Given the description of an element on the screen output the (x, y) to click on. 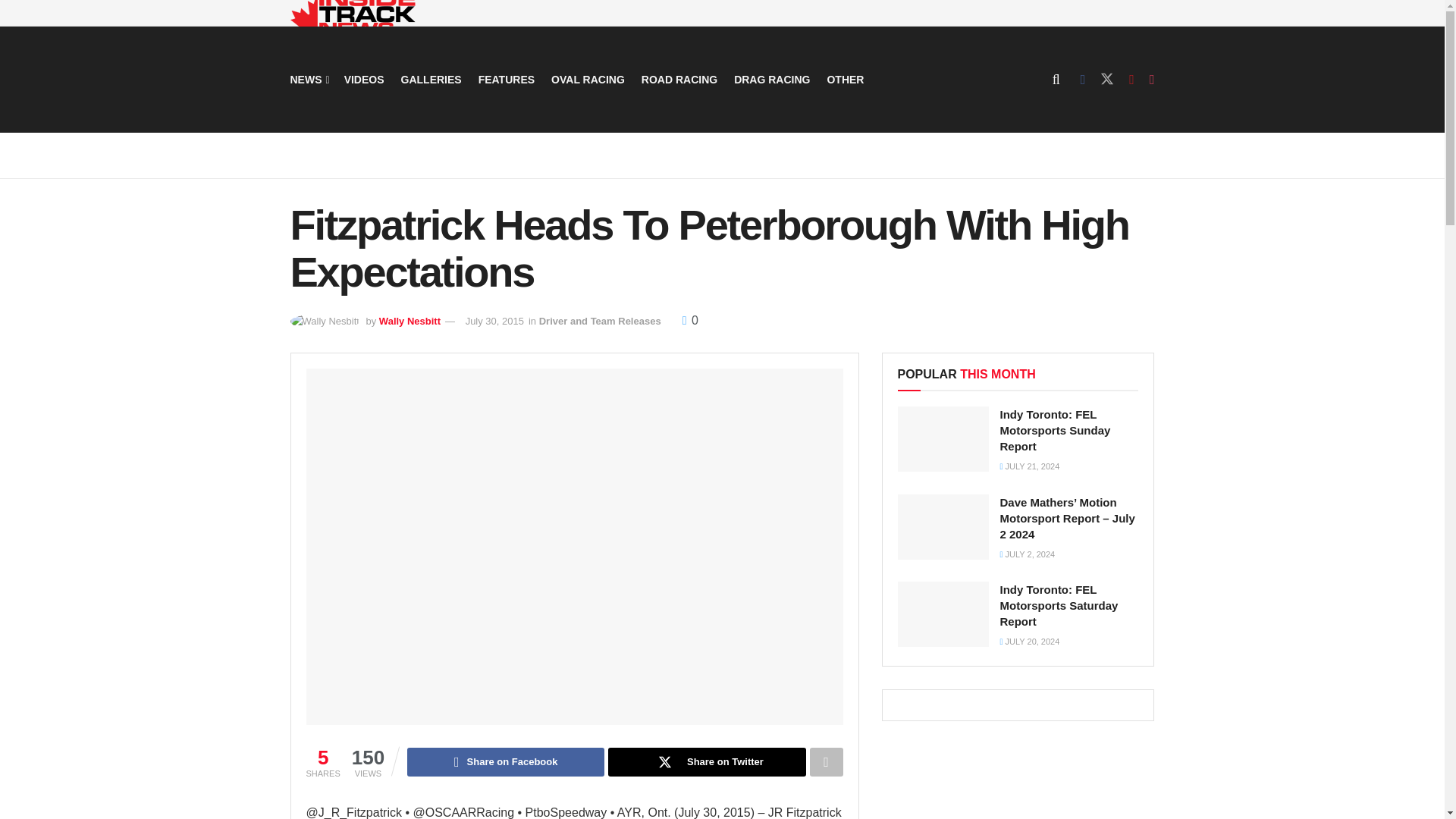
ROAD RACING (679, 79)
GALLERIES (431, 79)
DRAG RACING (771, 79)
NEWS (307, 79)
FEATURES (506, 79)
VIDEOS (363, 79)
OTHER (845, 79)
OVAL RACING (587, 79)
